Given the description of an element on the screen output the (x, y) to click on. 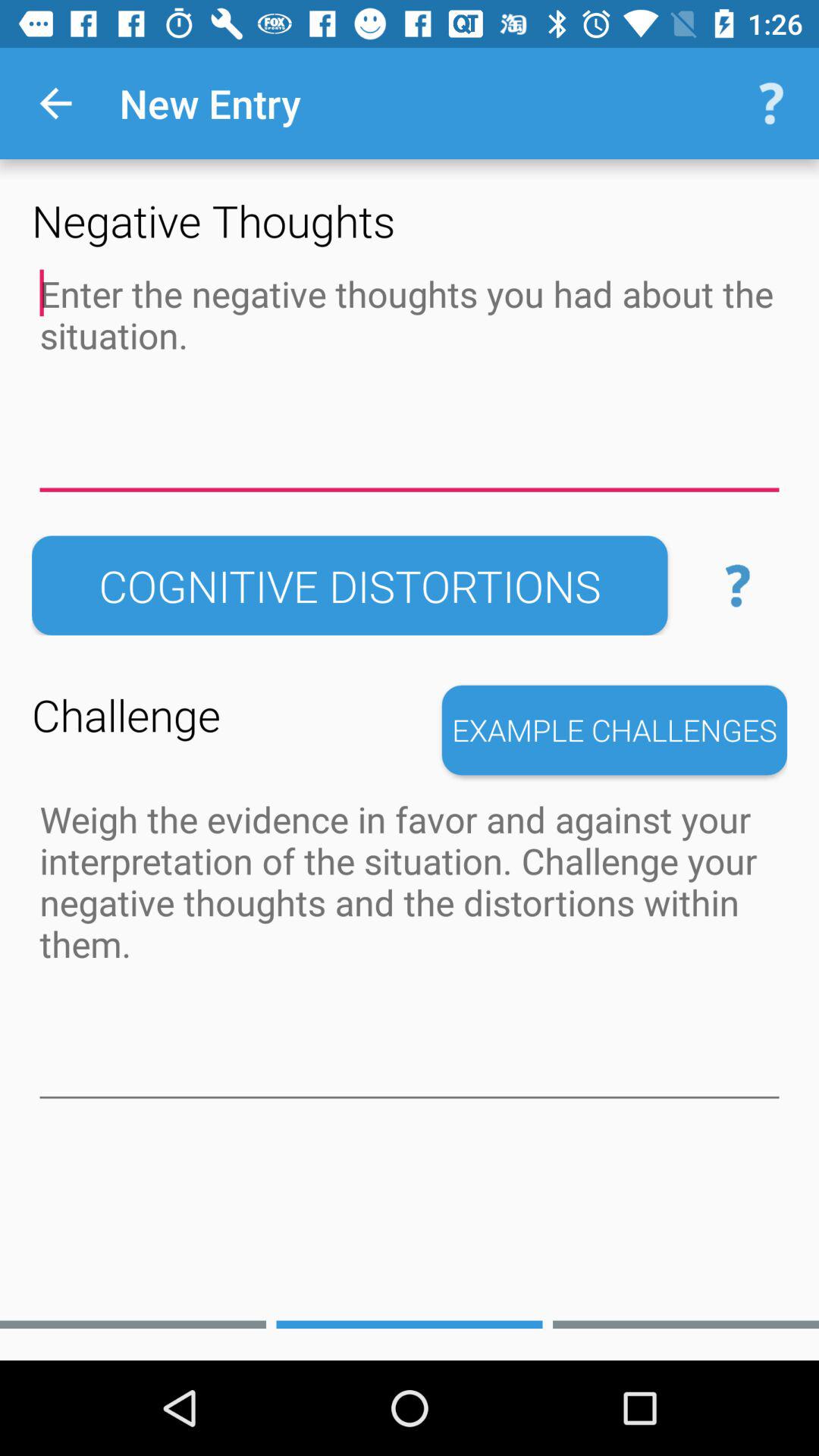
turn on icon to the right of cognitive distortions icon (737, 585)
